Given the description of an element on the screen output the (x, y) to click on. 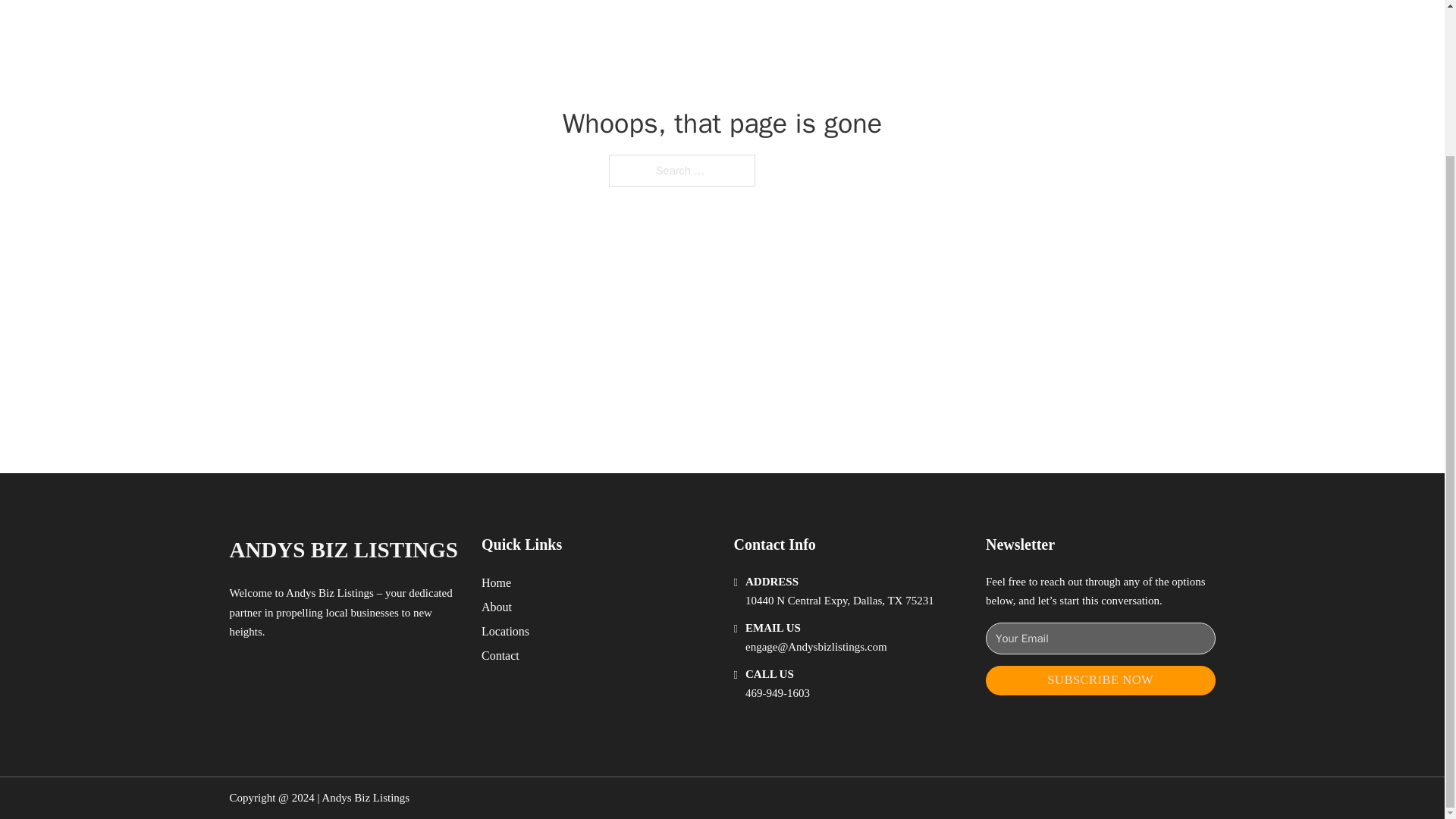
SUBSCRIBE NOW (1100, 680)
469-949-1603 (777, 693)
Contact (500, 655)
ANDYS BIZ LISTINGS (342, 549)
About (496, 607)
Home (496, 582)
Locations (505, 630)
